Given the description of an element on the screen output the (x, y) to click on. 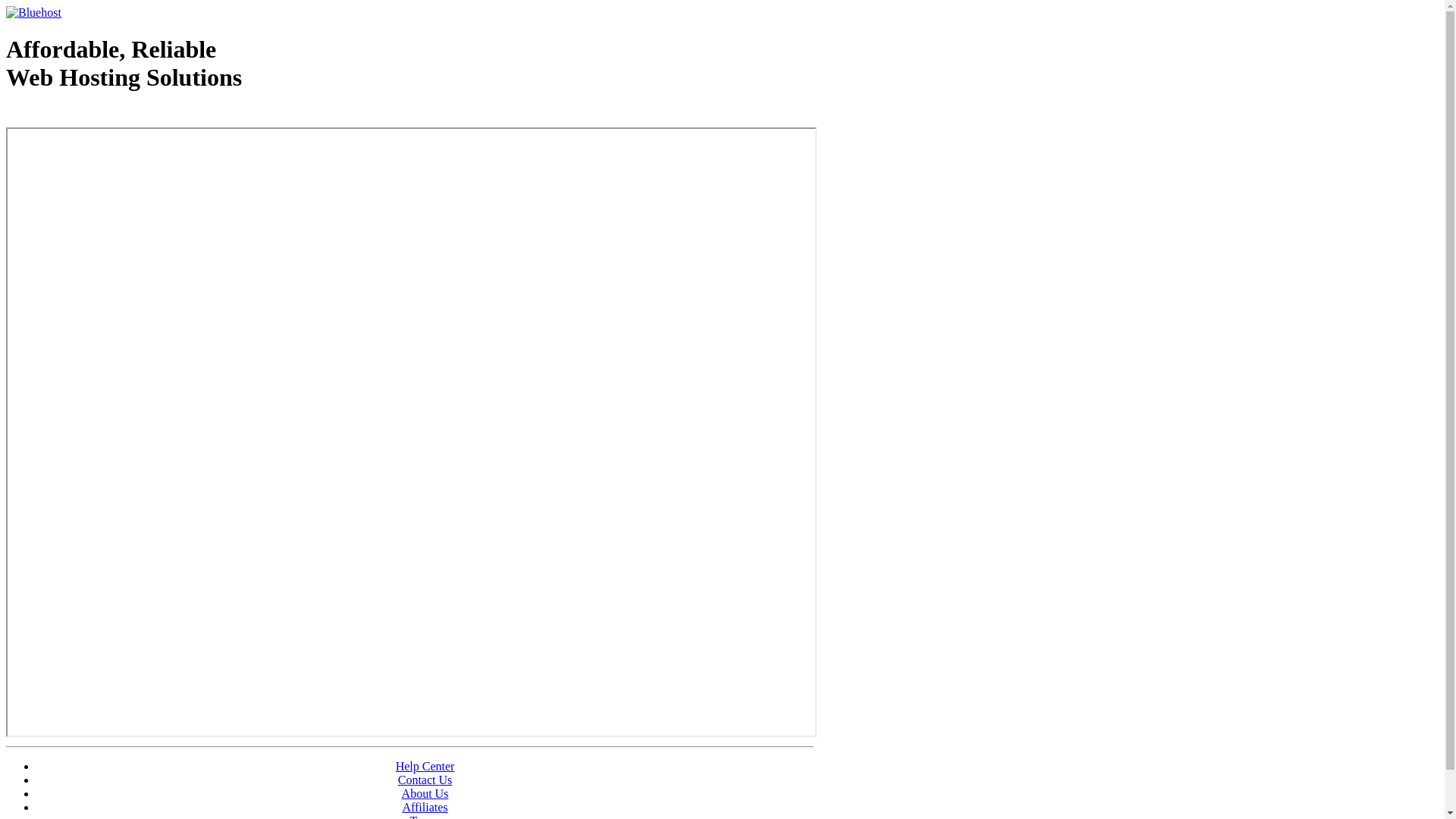
About Us Element type: text (424, 793)
Help Center Element type: text (425, 765)
Web Hosting - courtesy of www.bluehost.com Element type: text (94, 115)
Contact Us Element type: text (425, 779)
Affiliates Element type: text (424, 806)
